Given the description of an element on the screen output the (x, y) to click on. 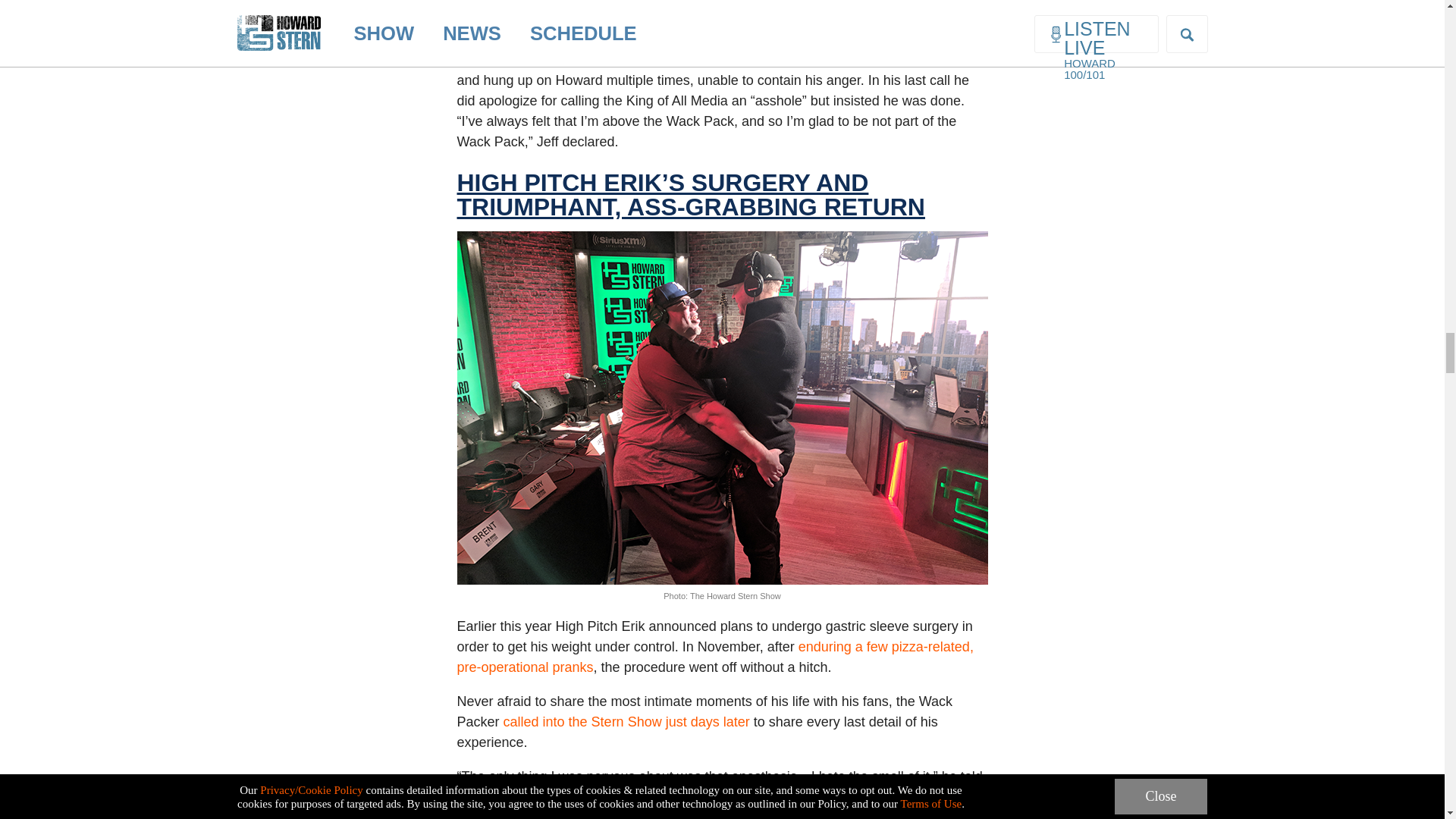
called into the Stern Show just days later (626, 721)
enduring a few pizza-related, pre-operational pranks (714, 656)
